Given the description of an element on the screen output the (x, y) to click on. 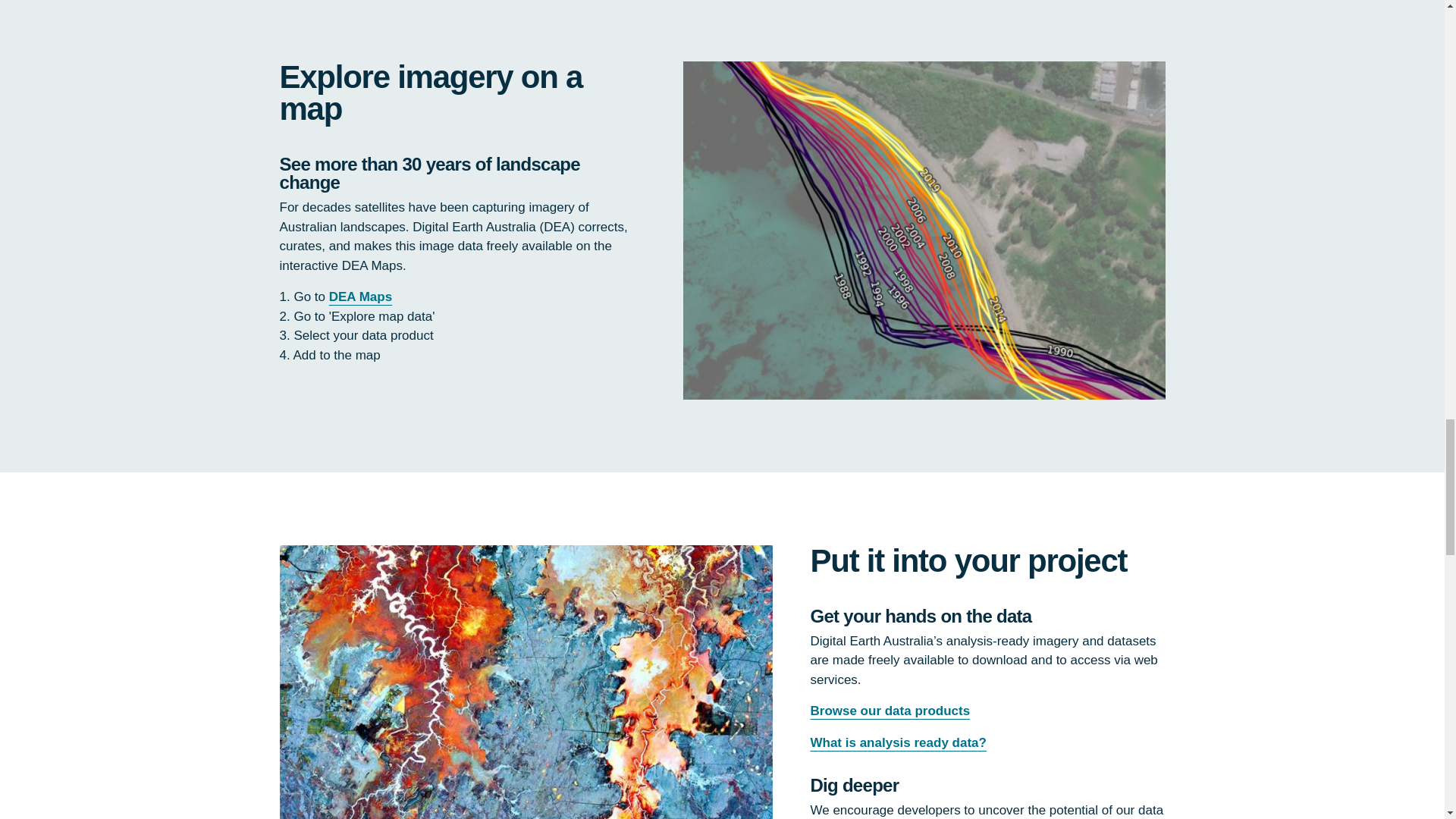
DEA Maps (360, 296)
Browse our data products (889, 710)
What is analysis ready data? (897, 742)
